Given the description of an element on the screen output the (x, y) to click on. 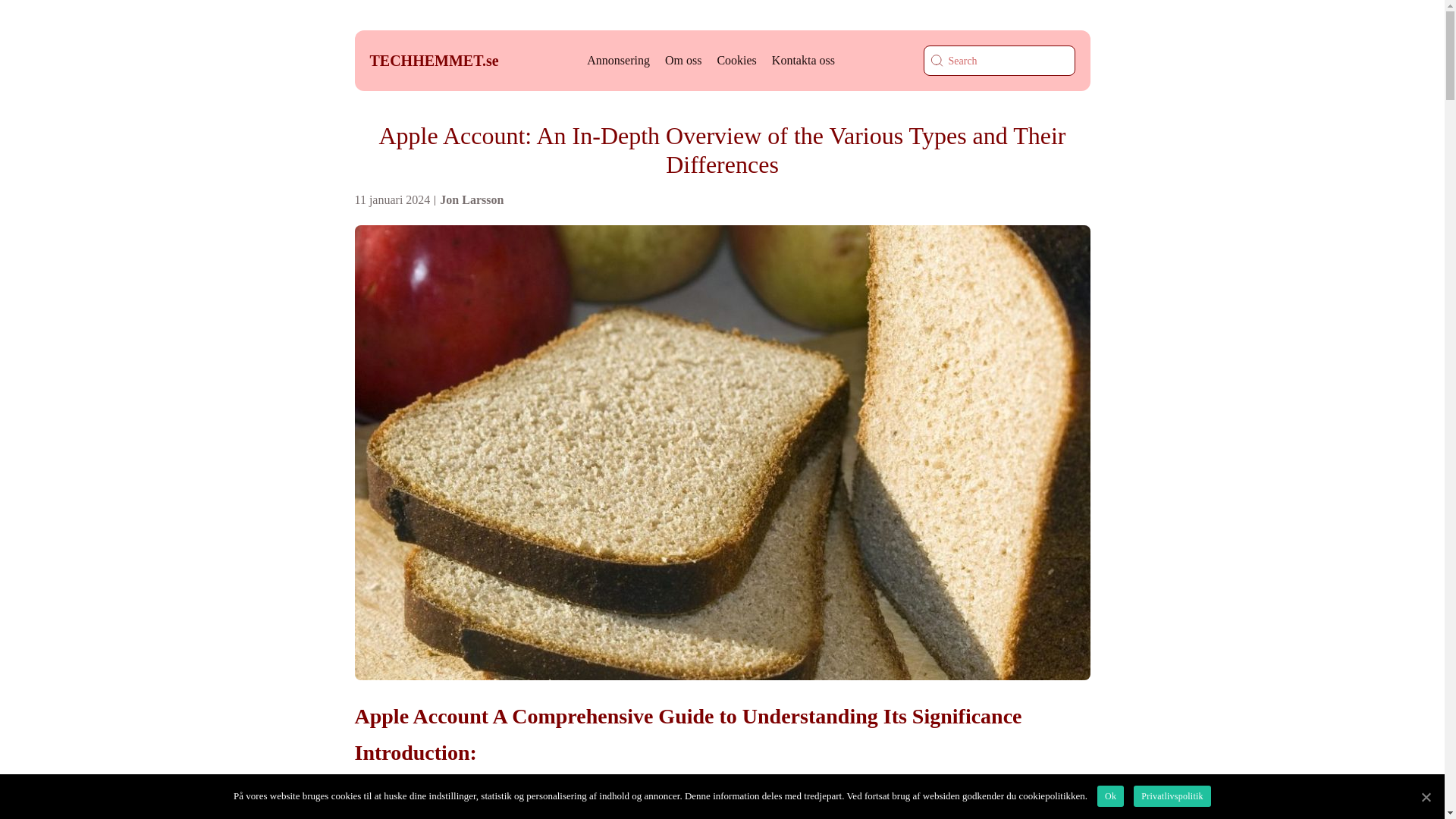
Om oss (683, 60)
Annonsering (617, 60)
TECHHEMMET.se (434, 60)
Cookies (735, 60)
Kontakta oss (802, 60)
